Given the description of an element on the screen output the (x, y) to click on. 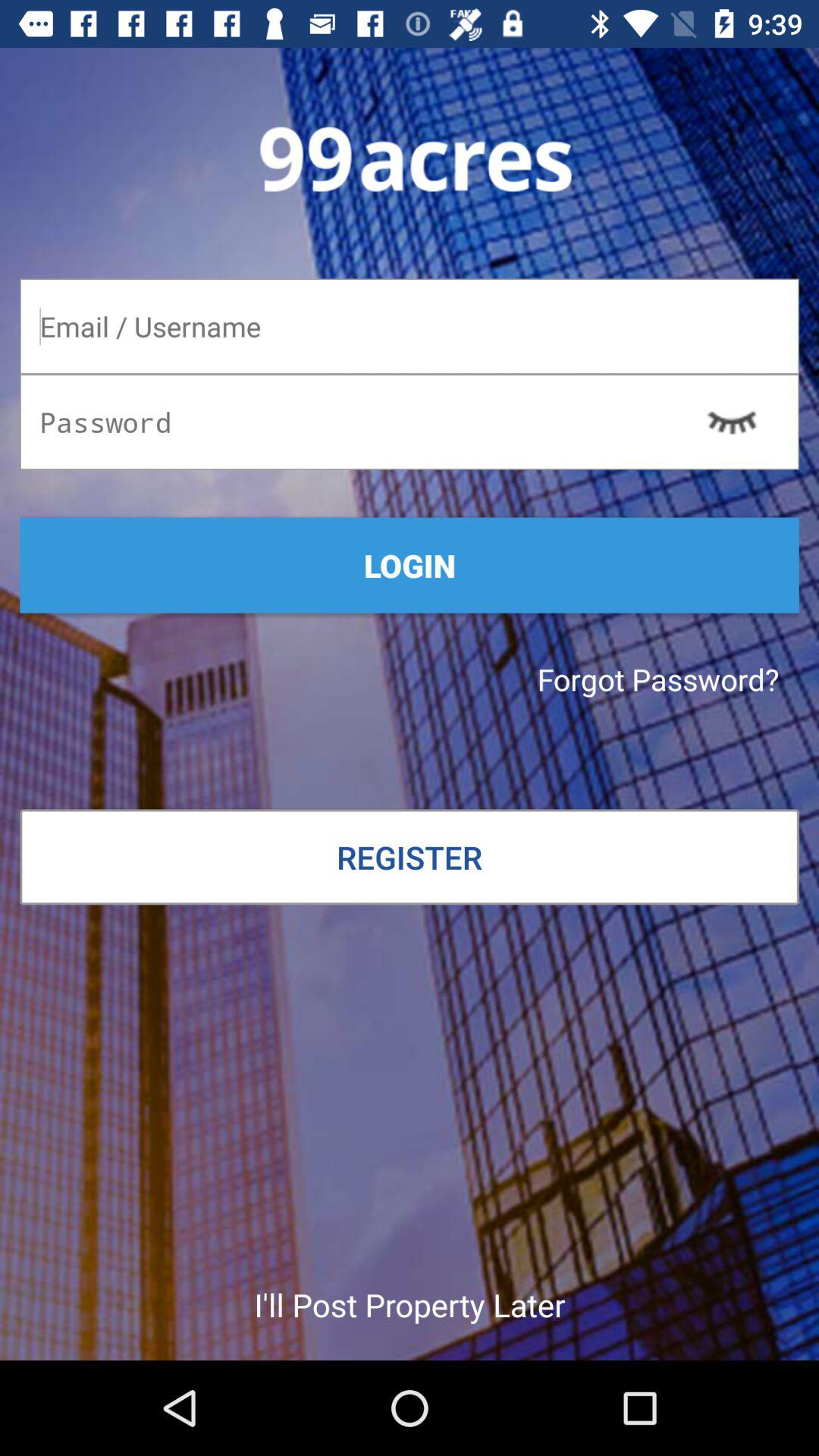
enter username email (409, 326)
